Given the description of an element on the screen output the (x, y) to click on. 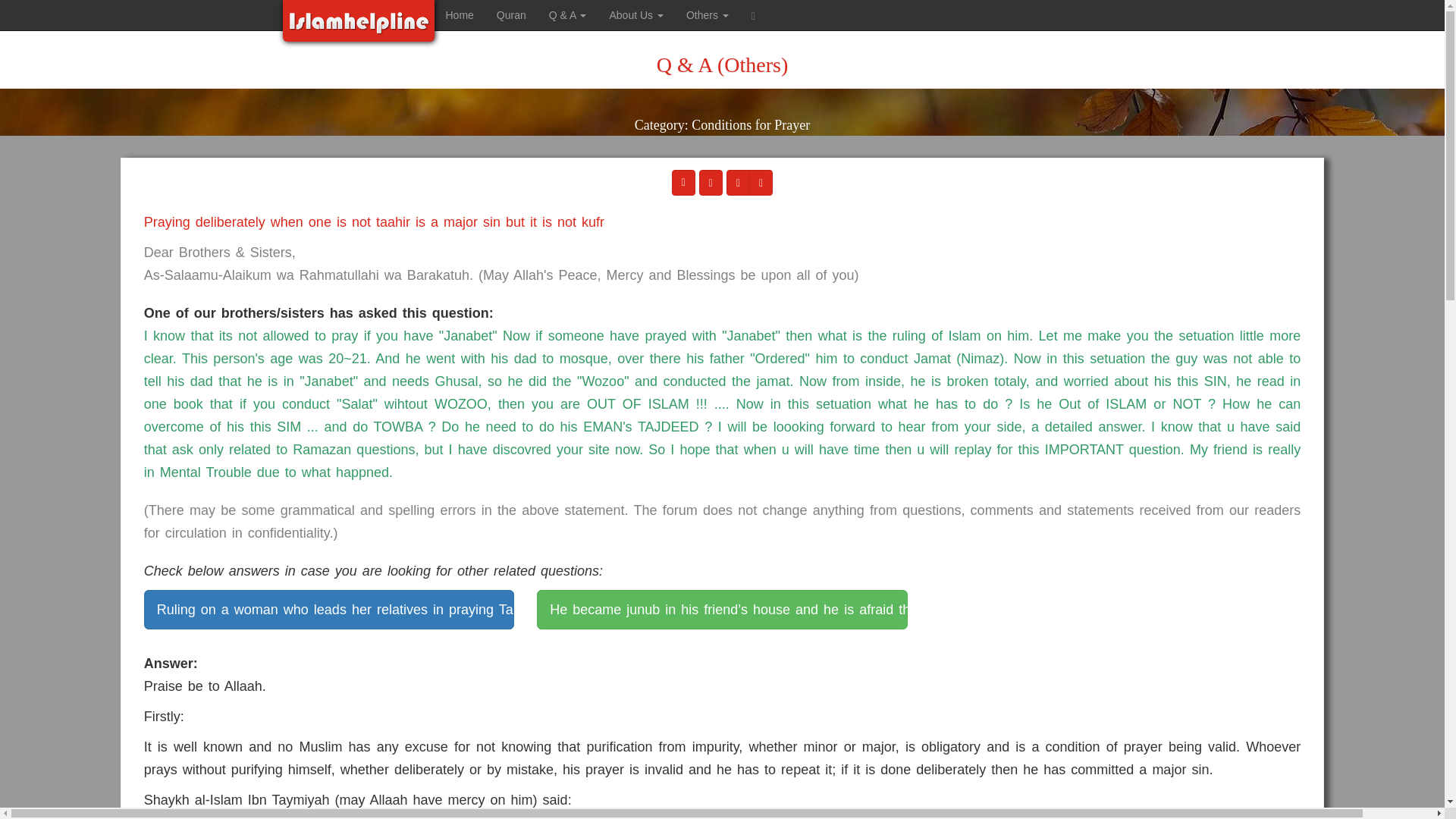
Quran (510, 15)
Others (707, 15)
Category: Conditions for Prayer (721, 134)
About Us (635, 15)
Home (458, 15)
